Given the description of an element on the screen output the (x, y) to click on. 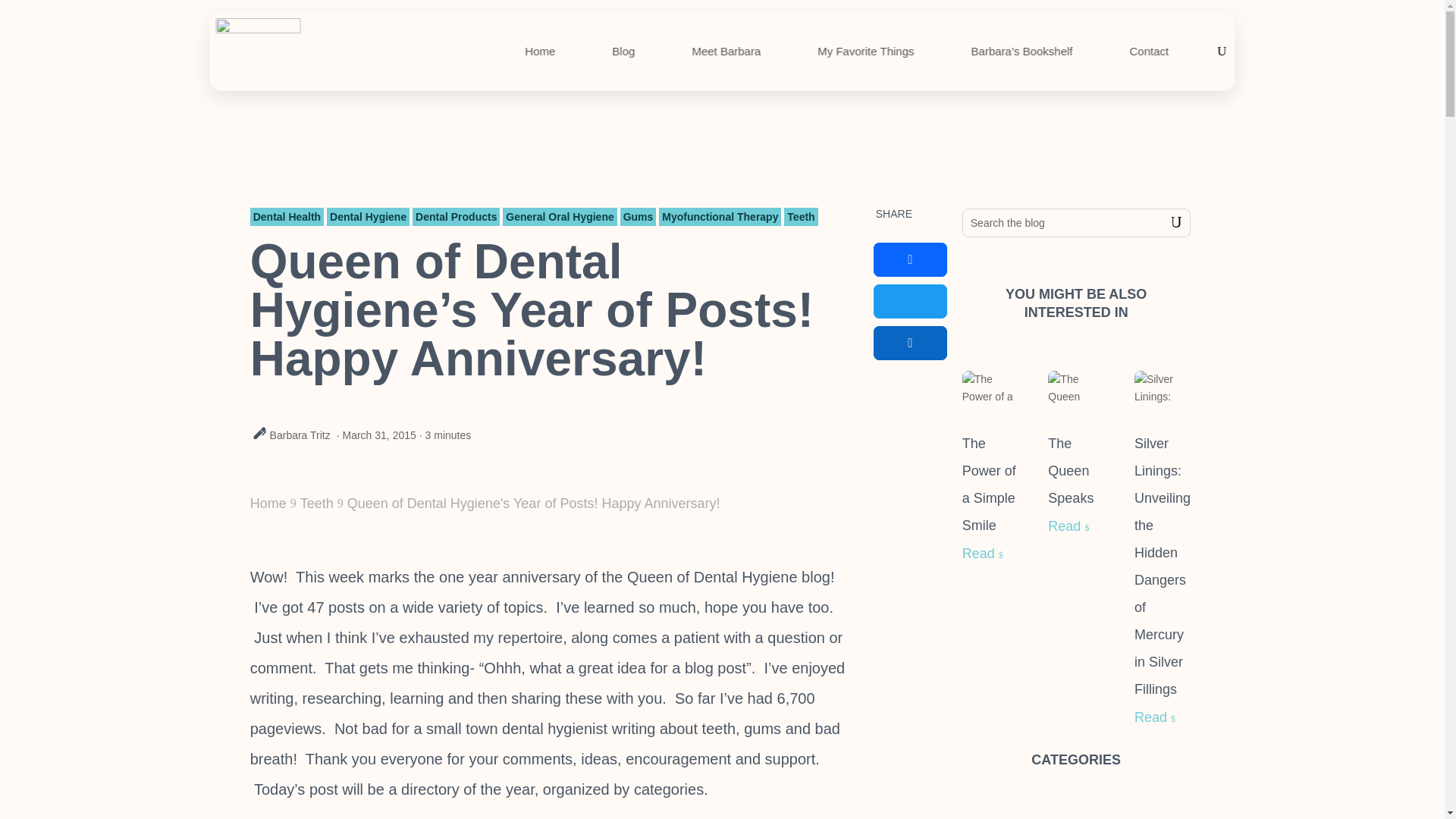
Dental Hygiene (367, 217)
General Oral Hygiene (558, 217)
Teeth (316, 503)
Myofunctional Therapy (719, 217)
Queen of Dental Hygiene's Year of Posts! Happy Anniversary! (533, 503)
Dental Health (286, 217)
Gums (638, 217)
Search (1164, 222)
Dental Products (455, 217)
Meet Barbara (725, 51)
Search (1164, 222)
My Favorite Things (865, 51)
Home (268, 503)
Teeth (800, 217)
